Given the description of an element on the screen output the (x, y) to click on. 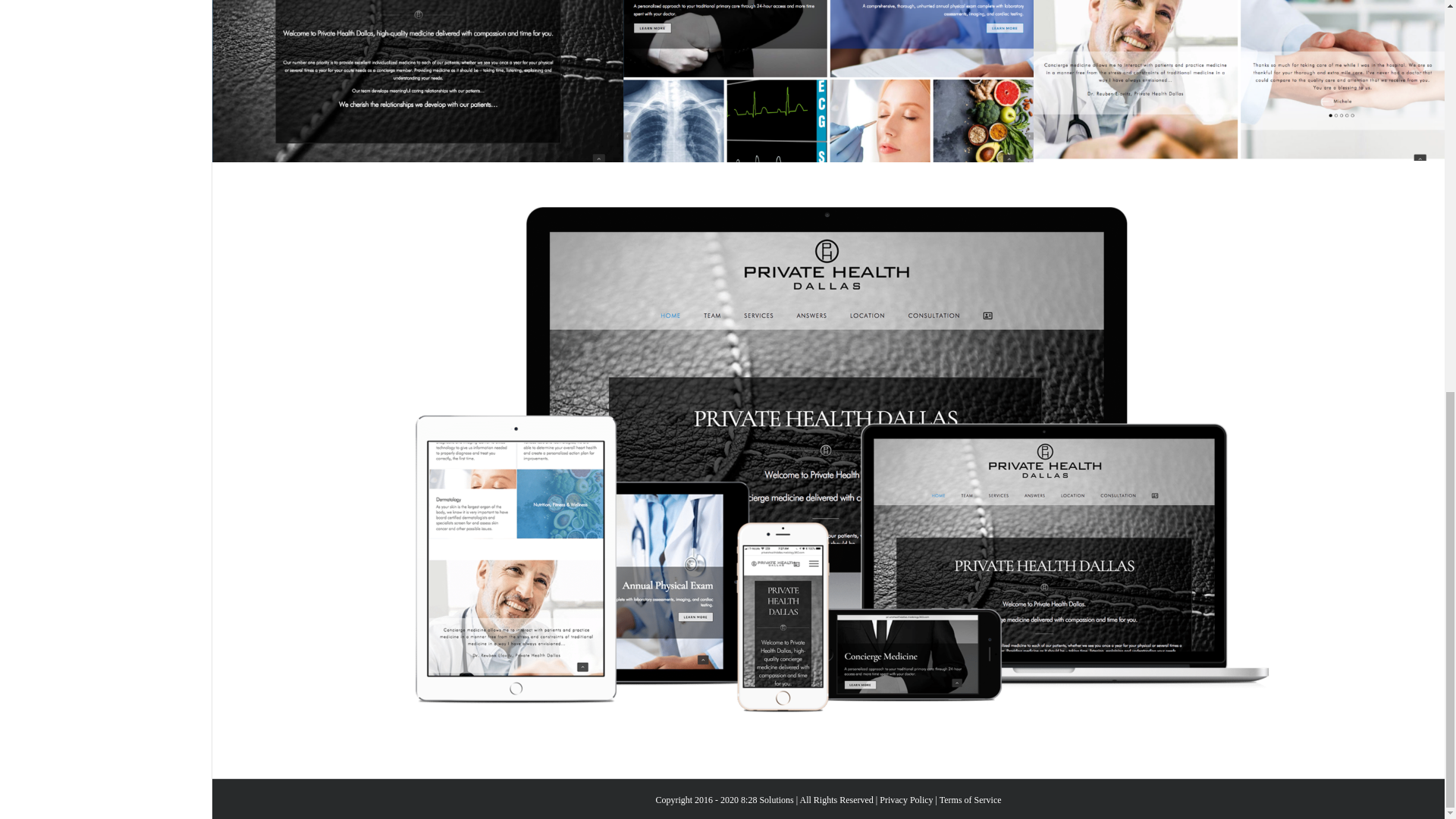
Private Health Dallas 1 (417, 81)
Privacy Policy (906, 799)
Terms of Service (970, 799)
